Given the description of an element on the screen output the (x, y) to click on. 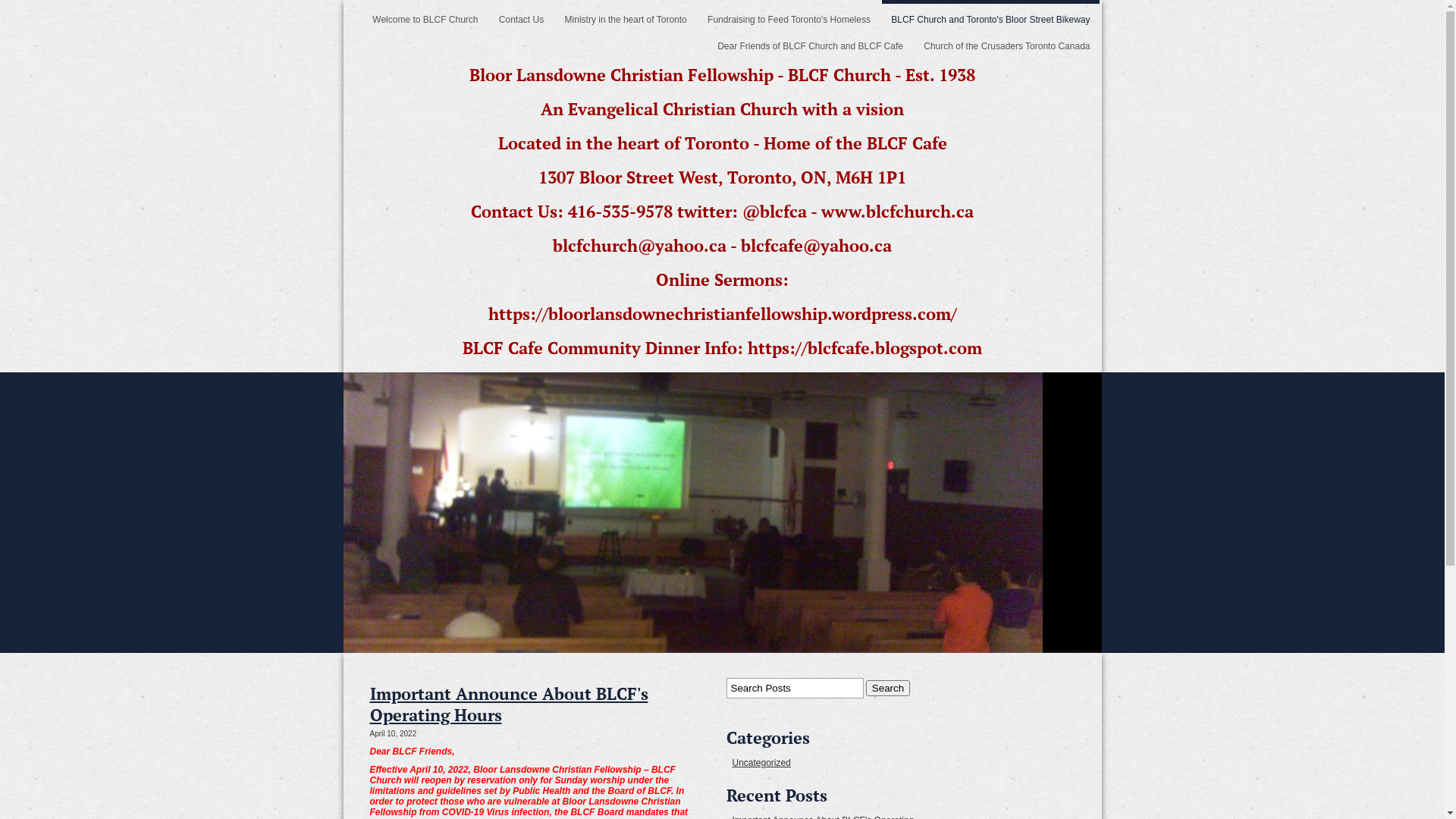
Search Element type: text (888, 688)
Search Posts Element type: text (794, 687)
Dear Friends of BLCF Church and BLCF Cafe Element type: text (810, 41)
Church of the Crusaders Toronto Canada Element type: text (1006, 41)
Welcome to BLCF Church Element type: text (424, 15)
Ministry in the heart of Toronto Element type: text (625, 15)
Uncategorized Element type: text (761, 762)
Important Announce About BLCF's Operating Hours Element type: text (509, 704)
Contact Us Element type: text (520, 15)
BLCF Church and Toronto's Bloor Street Bikeway Element type: text (989, 15)
Fundraising to Feed Toronto's Homeless Element type: text (788, 15)
